Given the description of an element on the screen output the (x, y) to click on. 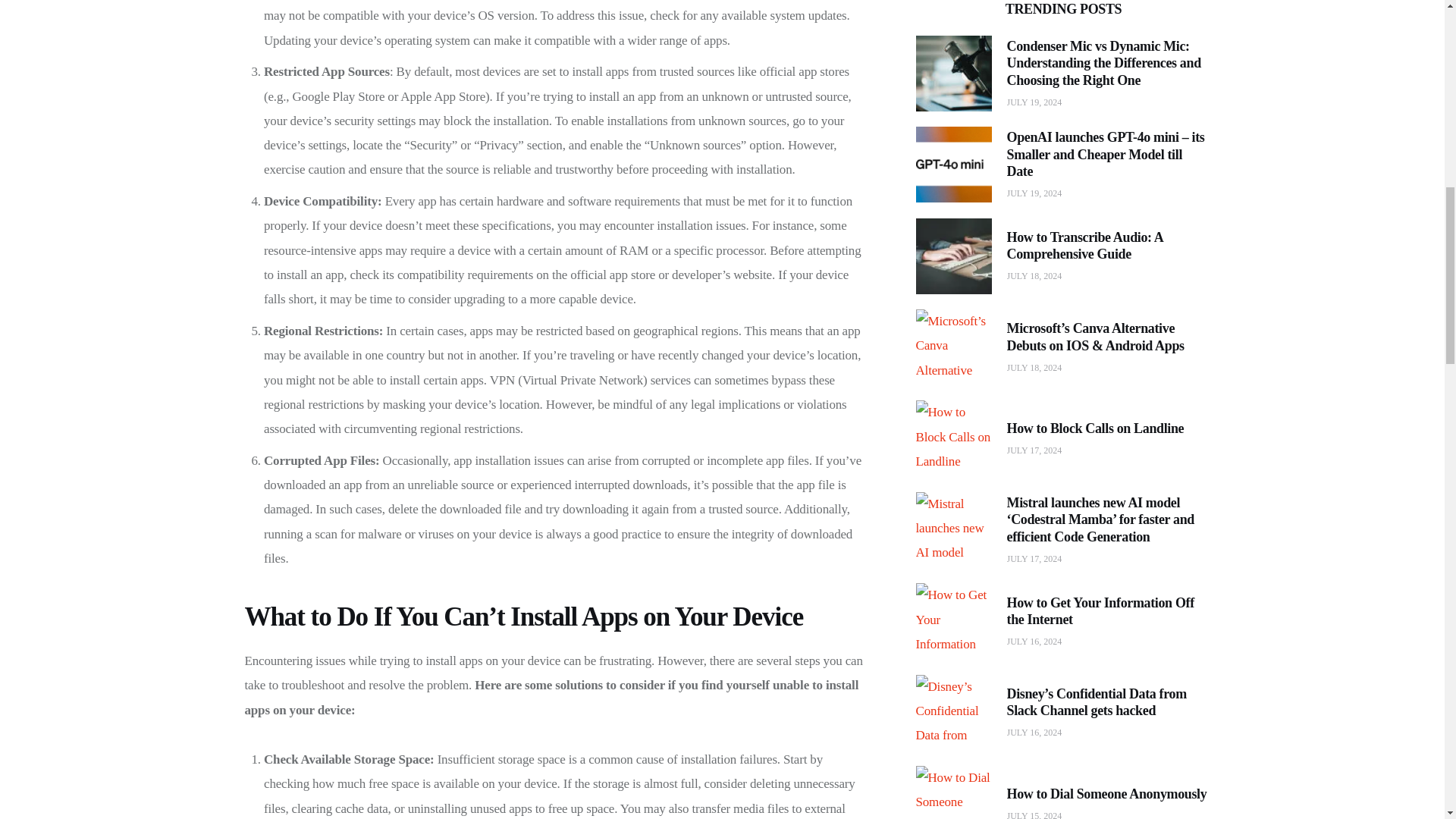
Get the latest kitchen gadgets (979, 631)
